Given the description of an element on the screen output the (x, y) to click on. 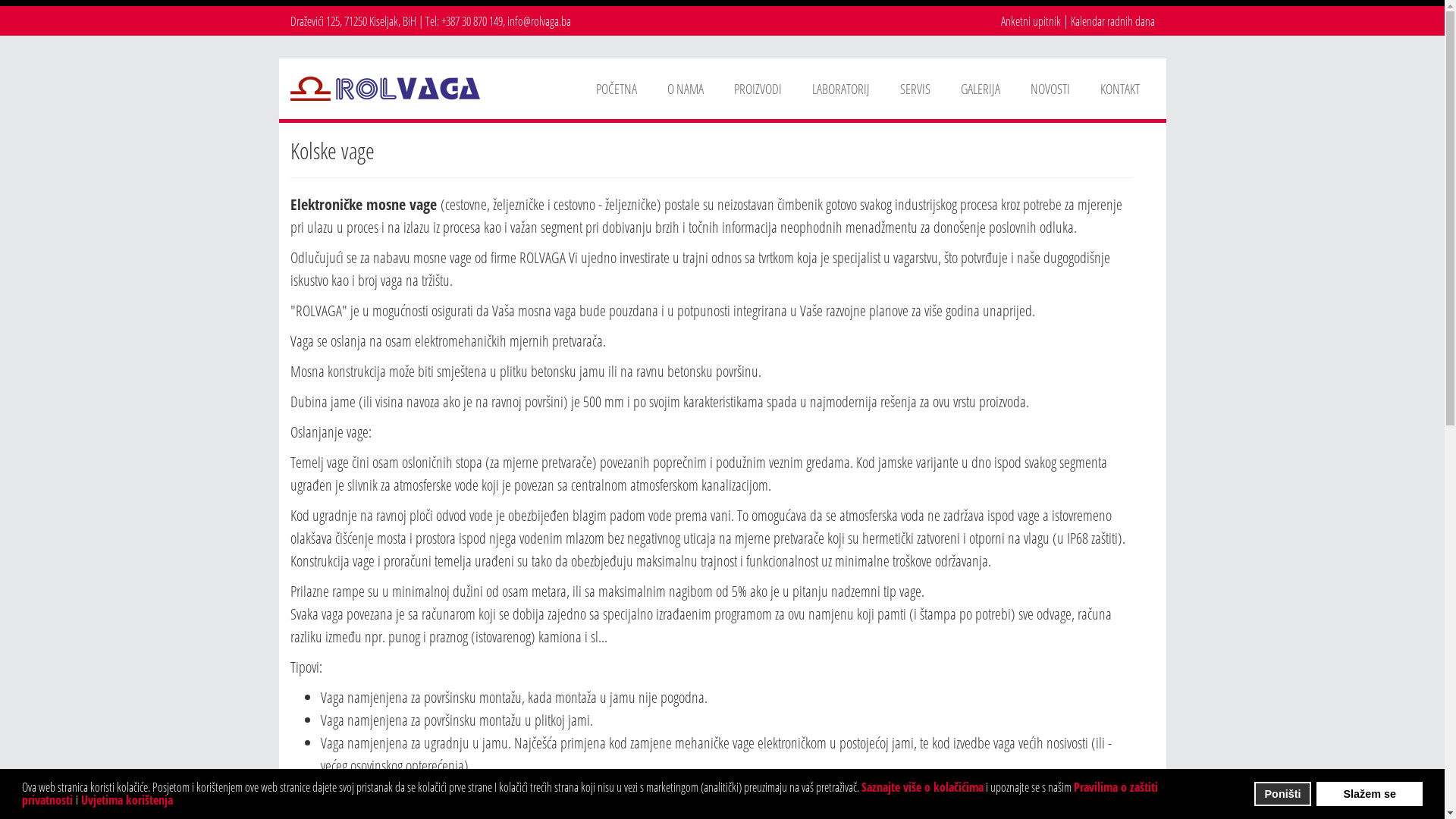
KONTAKT Element type: text (1119, 88)
GALERIJA Element type: text (979, 88)
LABORATORIJ Element type: text (840, 88)
Anketni upitnik Element type: text (1030, 20)
SERVIS Element type: text (914, 88)
Kalendar radnih dana Element type: text (1112, 20)
PROIZVODI Element type: text (757, 88)
NOVOSTI Element type: text (1049, 88)
O NAMA Element type: text (685, 88)
